Given the description of an element on the screen output the (x, y) to click on. 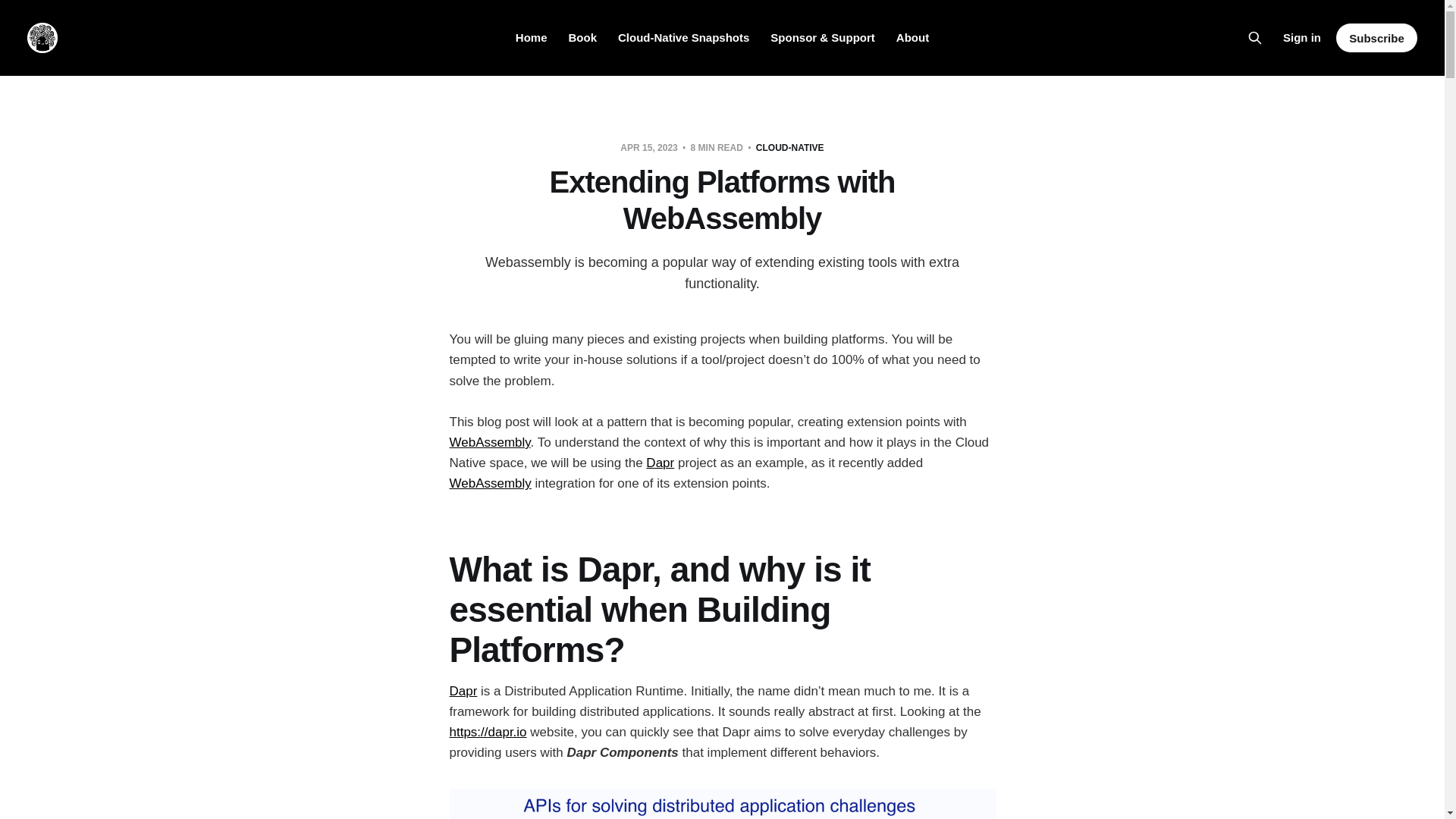
WebAssembly (489, 482)
CLOUD-NATIVE (789, 147)
About (912, 37)
WebAssembly (488, 441)
Dapr (660, 462)
Home (531, 37)
Cloud-Native Snapshots (683, 37)
Sign in (1301, 37)
Dapr (462, 690)
Book (582, 37)
Subscribe (1376, 37)
